Given the description of an element on the screen output the (x, y) to click on. 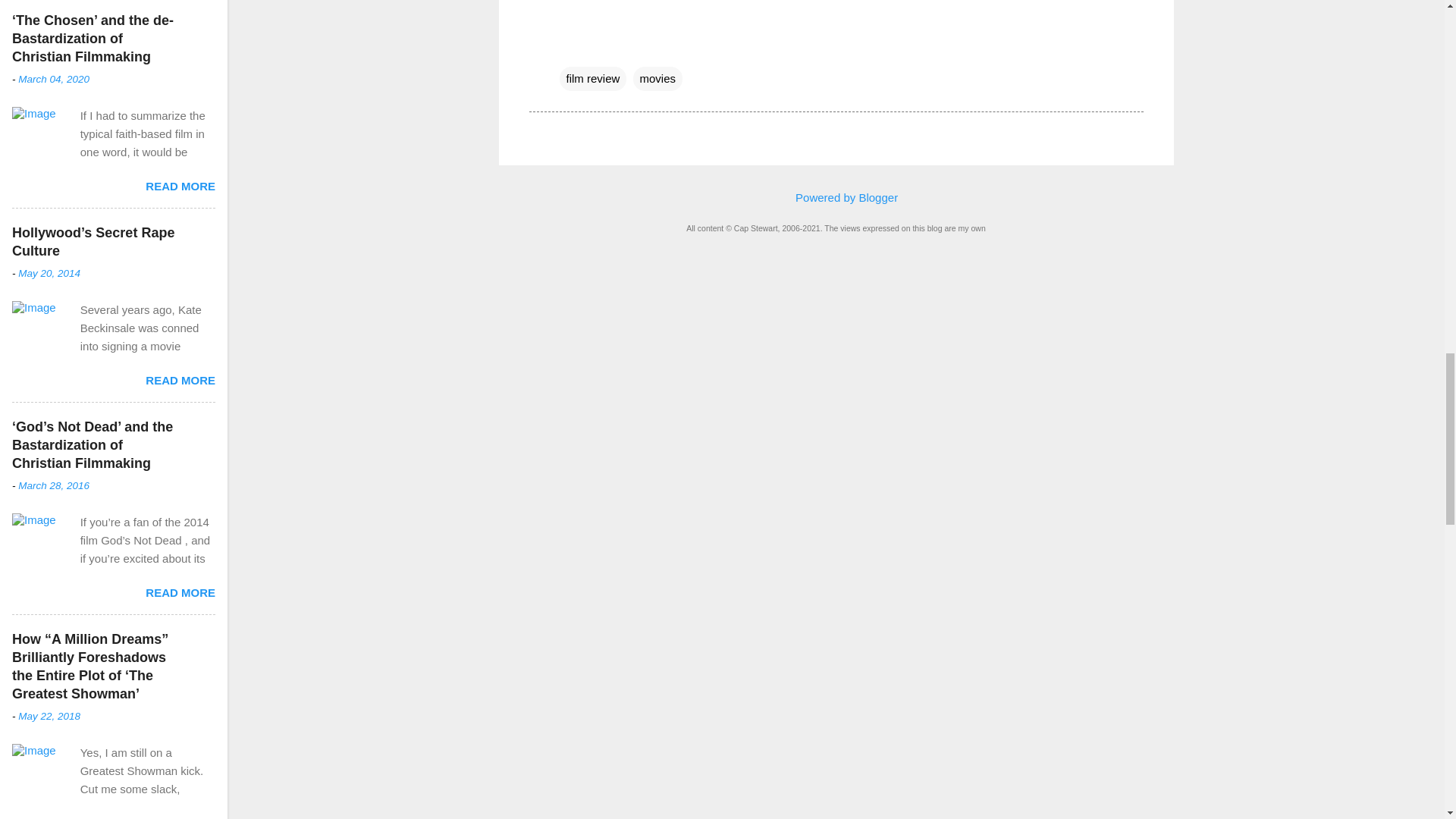
Powered by Blogger (836, 196)
movies (657, 78)
Email Post (568, 47)
film review (593, 78)
